Given the description of an element on the screen output the (x, y) to click on. 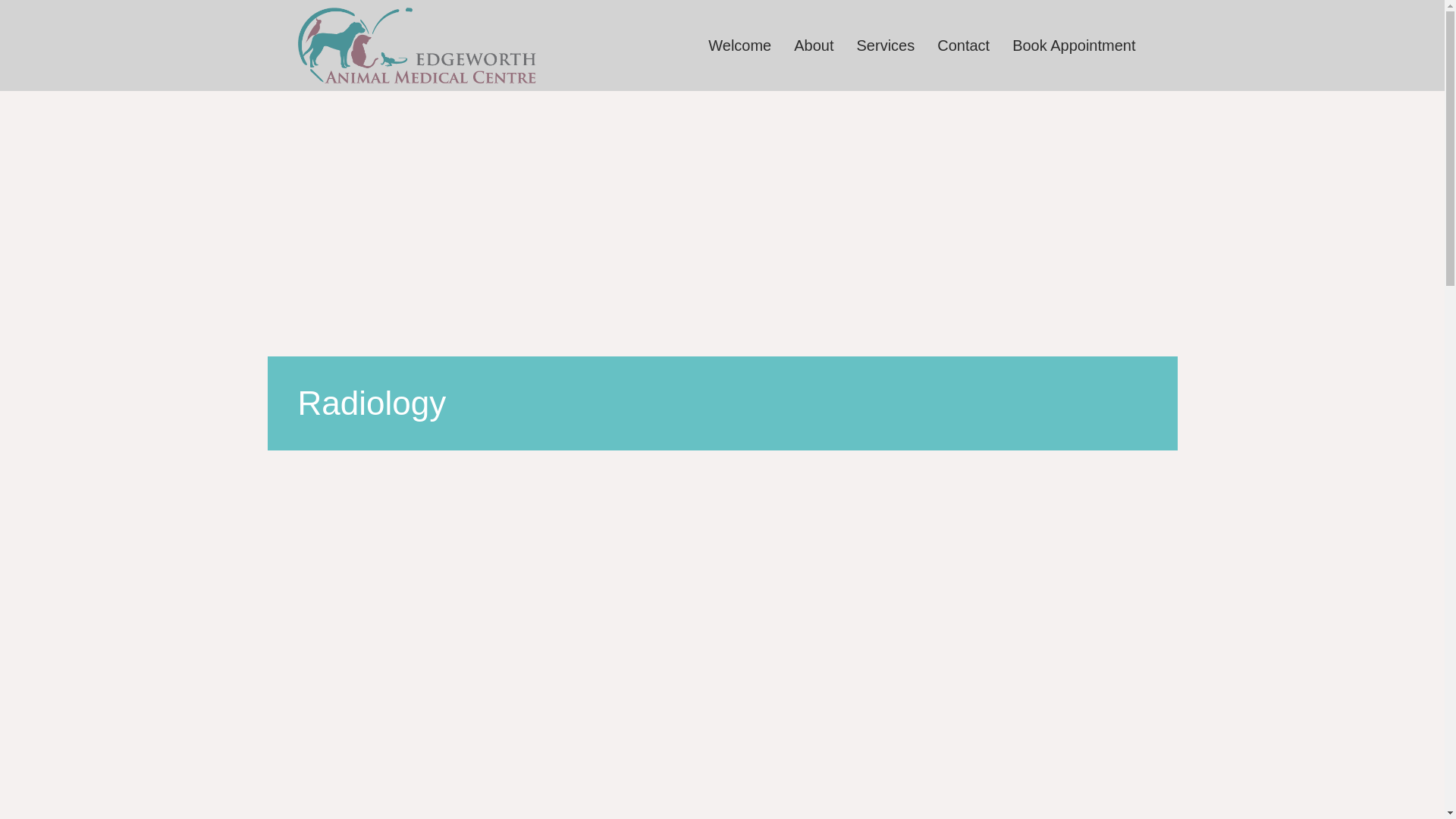
Services Element type: text (885, 45)
About Element type: text (813, 45)
Contact Element type: text (963, 45)
Book Appointment Element type: text (1073, 45)
Welcome Element type: text (739, 45)
